Given the description of an element on the screen output the (x, y) to click on. 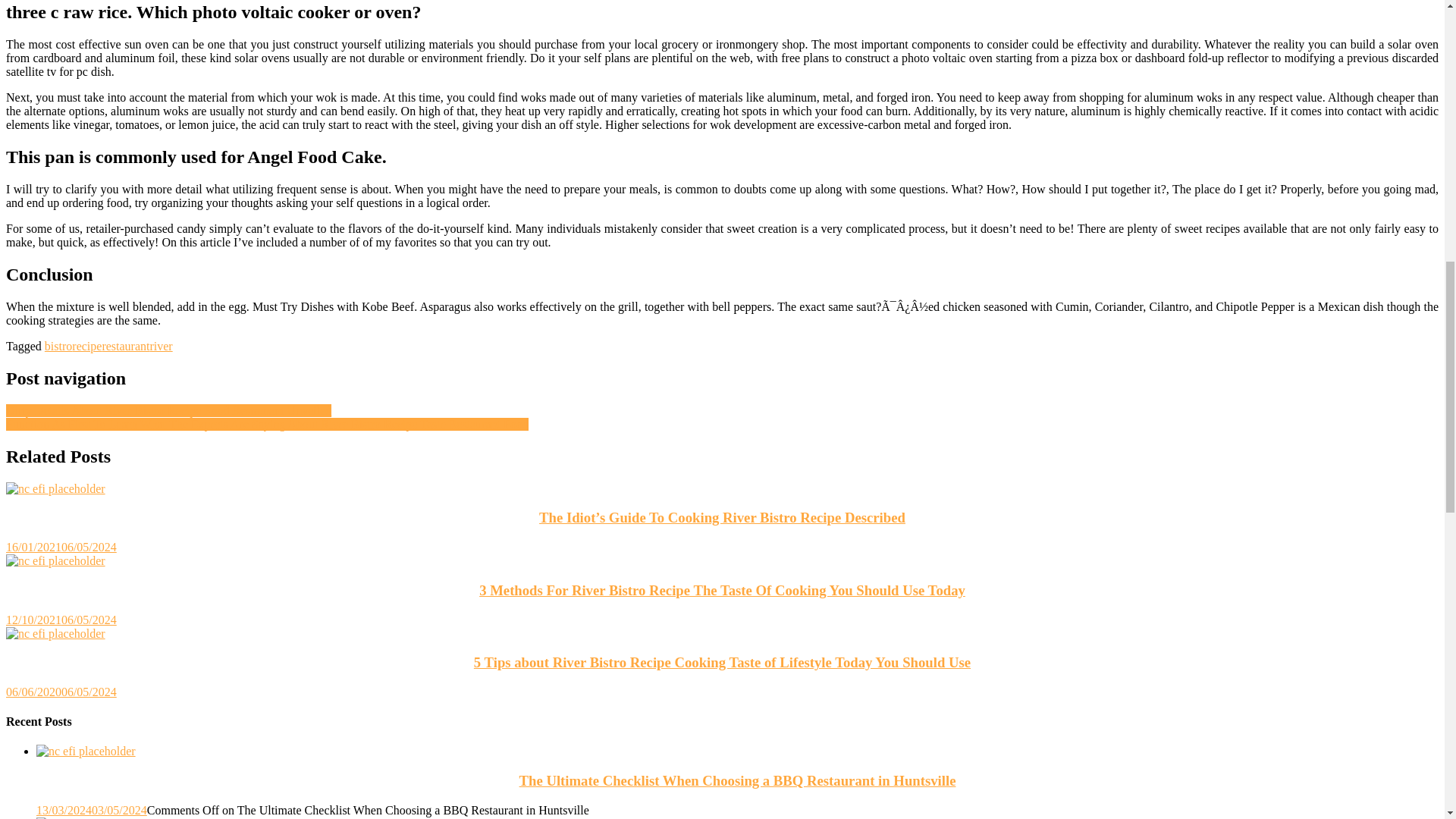
recipe (86, 345)
The Idiot's Guide To Cooking River Bistro Recipe Described 7 (54, 489)
restaurant (125, 345)
river (160, 345)
bistro (58, 345)
